Given the description of an element on the screen output the (x, y) to click on. 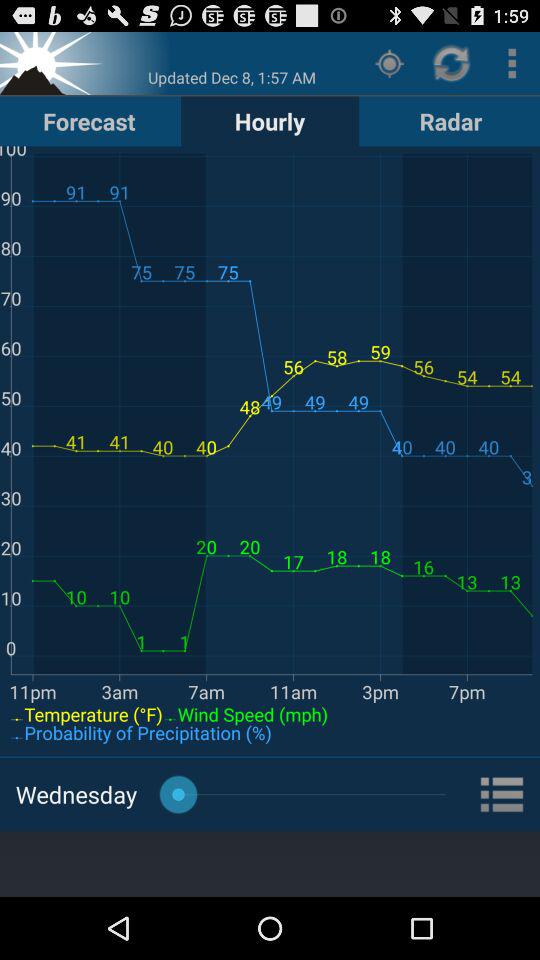
flip until hourly icon (270, 120)
